Given the description of an element on the screen output the (x, y) to click on. 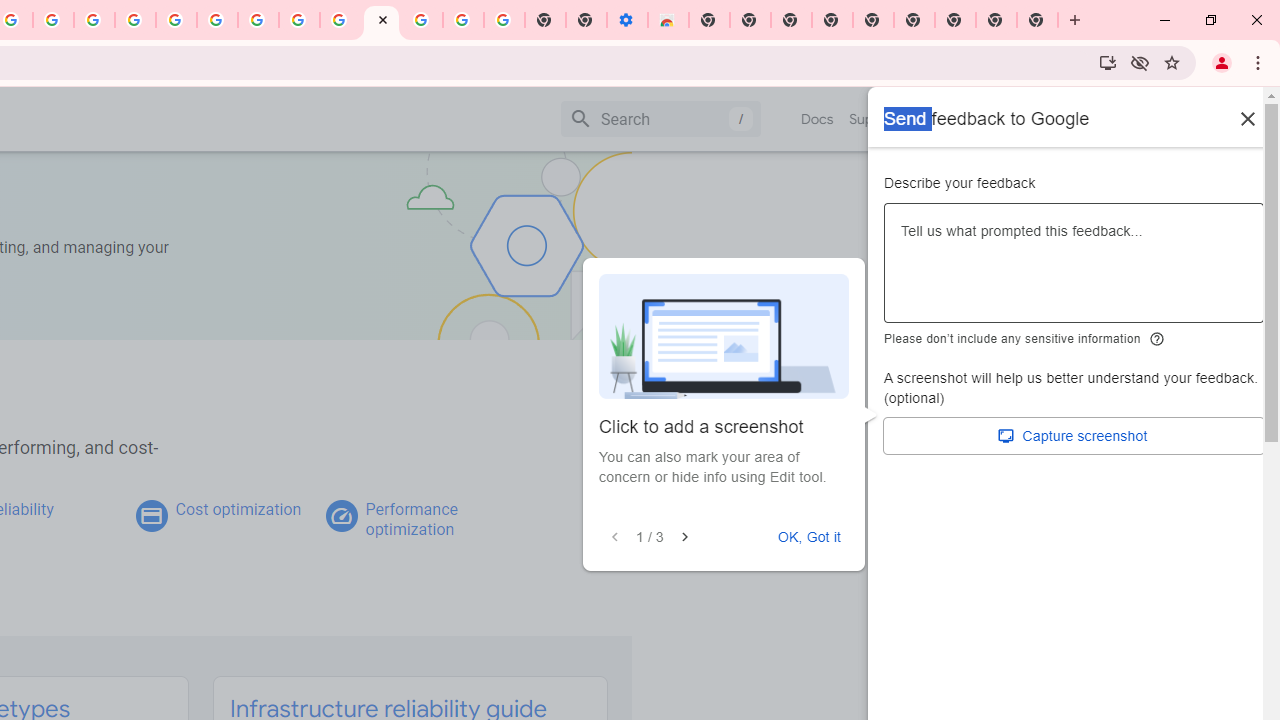
Previous (614, 537)
Describe your feedback (1074, 271)
Performance optimization (411, 519)
Create your Google Account (53, 20)
Install Google Cloud (1107, 62)
Browse the Google Chrome Community - Google Chrome Community (340, 20)
Ad Settings (135, 20)
Create your Google Account (299, 20)
